Given the description of an element on the screen output the (x, y) to click on. 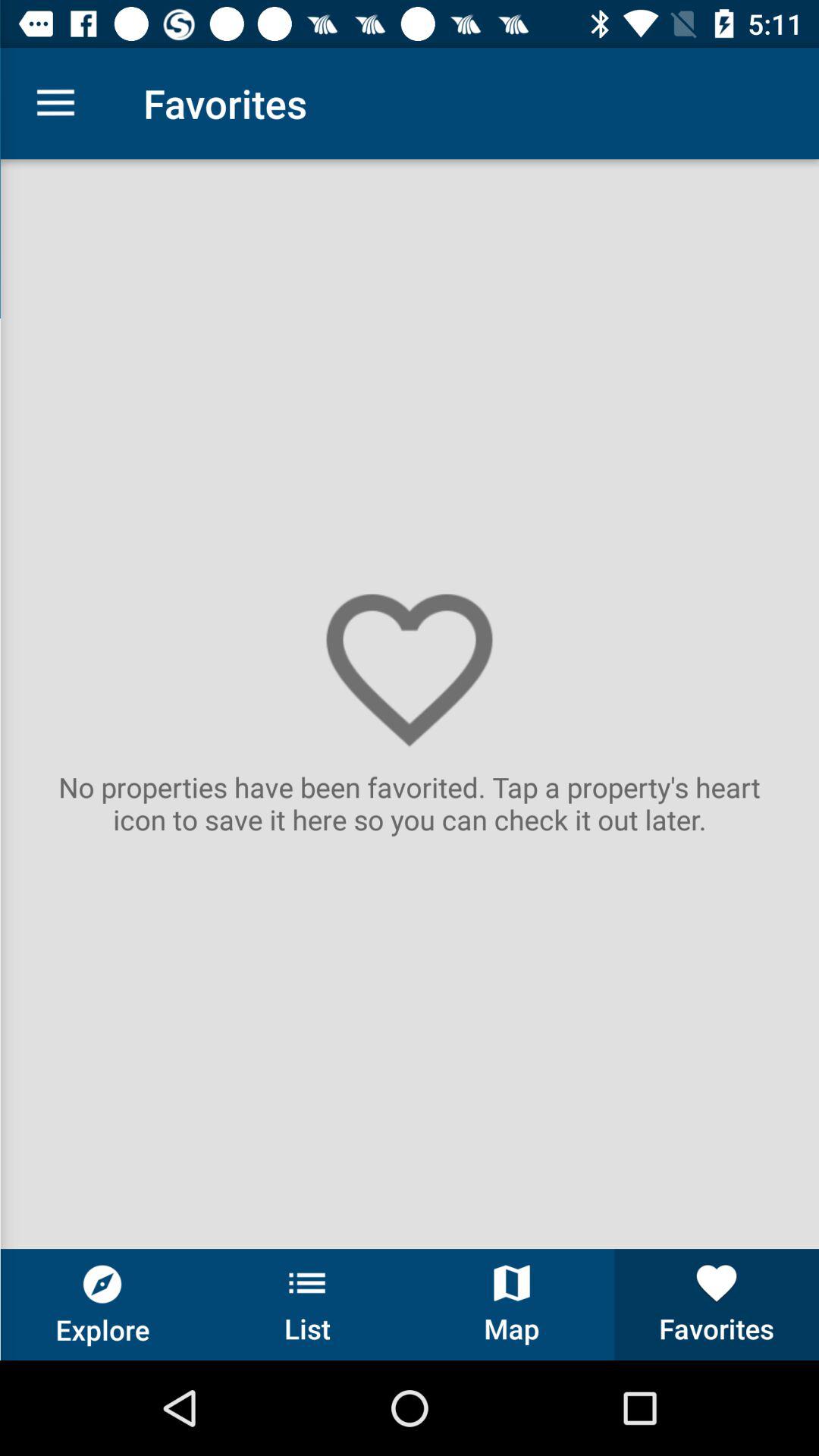
open the item to the left of the favorites (55, 103)
